Given the description of an element on the screen output the (x, y) to click on. 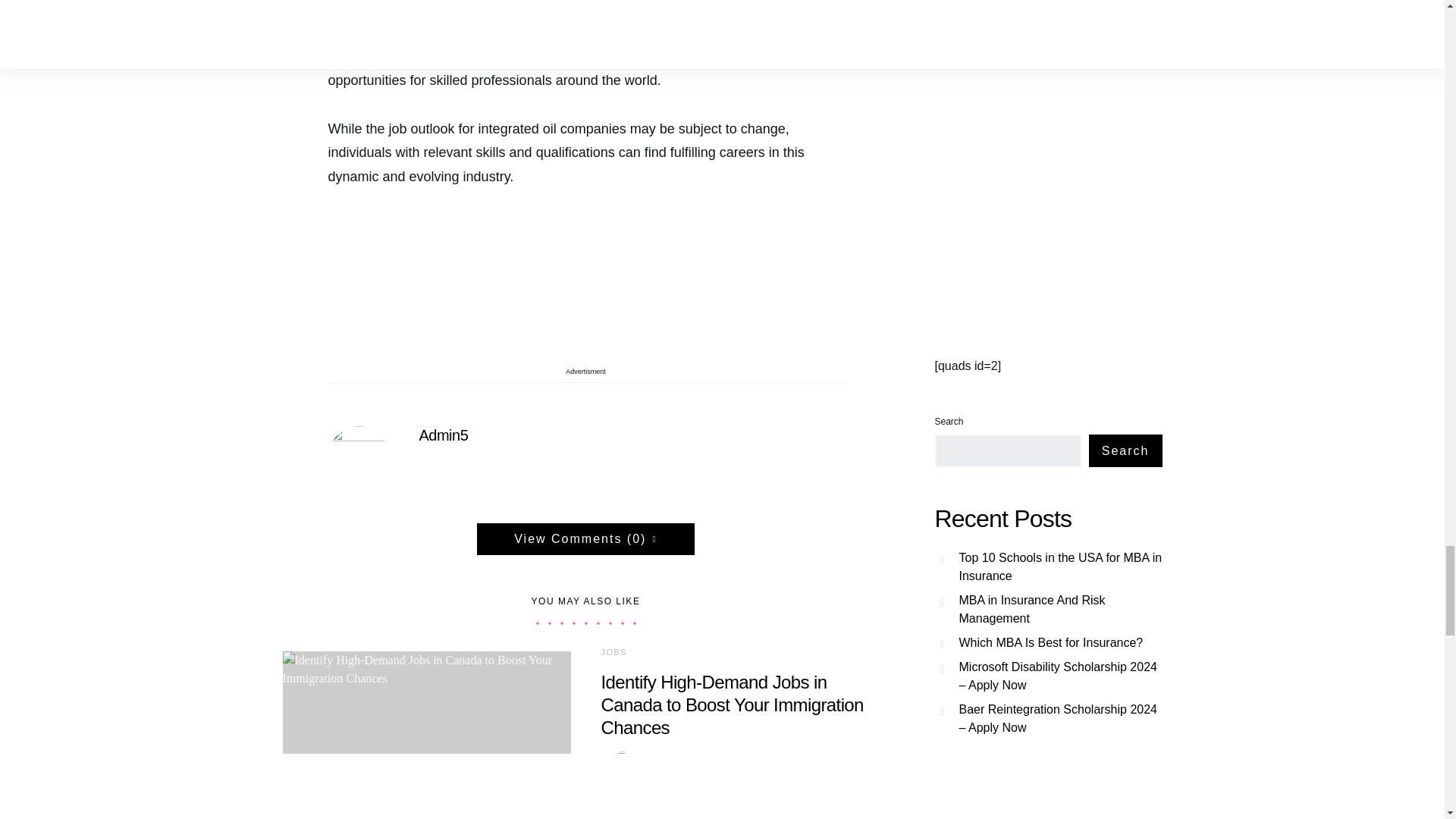
View all posts by Admin5 (641, 758)
